Given the description of an element on the screen output the (x, y) to click on. 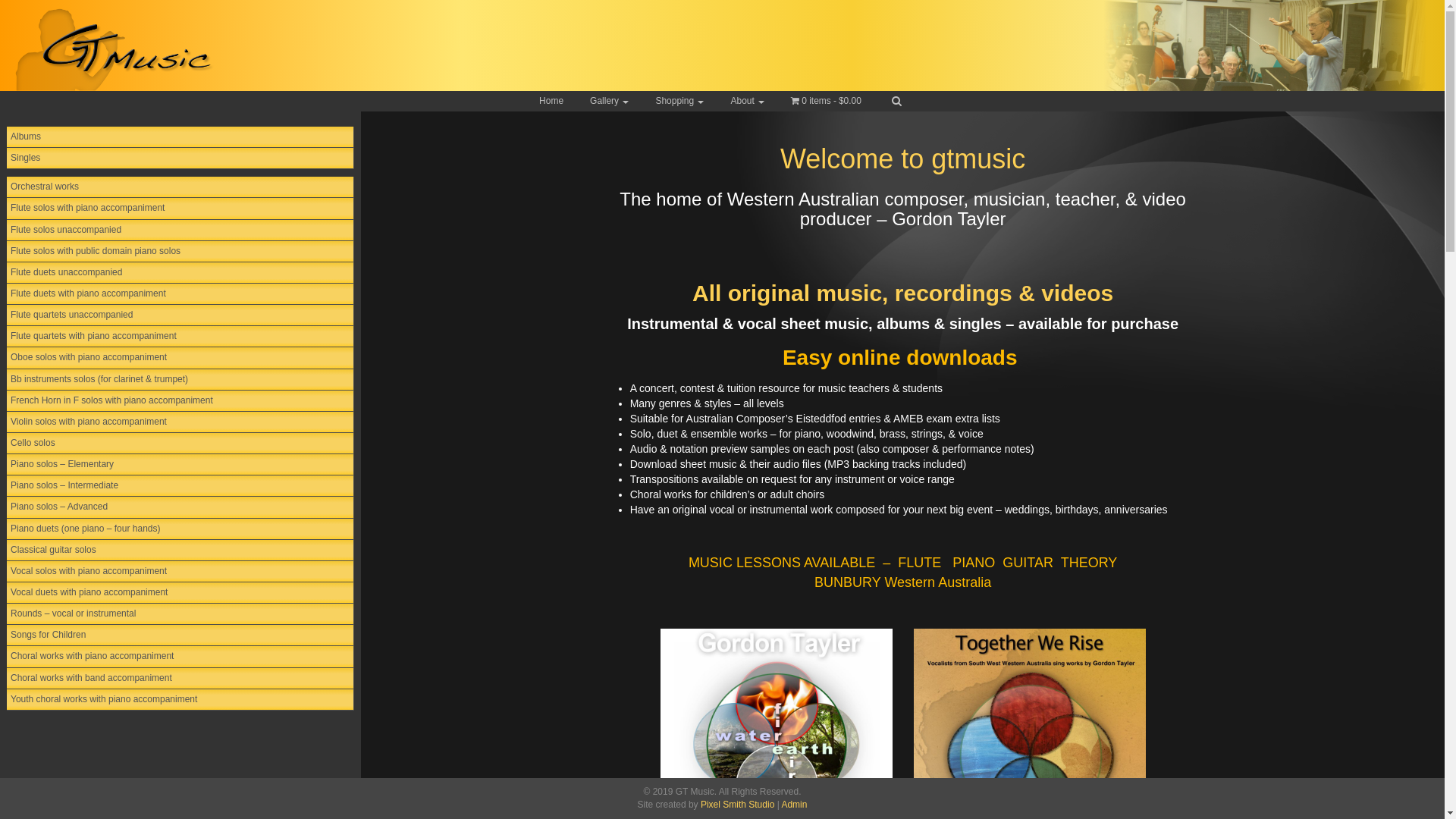
0 items$0.00 Element type: text (826, 101)
Flute quartets with piano accompaniment Element type: text (180, 336)
Choral works with piano accompaniment Element type: text (180, 656)
Flute solos with piano accompaniment Element type: text (180, 208)
Violin solos with piano accompaniment Element type: text (180, 422)
Youth choral works with piano accompaniment Element type: text (180, 699)
Home Element type: text (551, 101)
Orchestral works Element type: text (180, 186)
Classical guitar solos Element type: text (180, 550)
Shopping Element type: text (679, 101)
Pixel Smith Studio Element type: text (737, 804)
Flute quartets unaccompanied Element type: text (180, 315)
Admin Element type: text (793, 804)
Songs for Children Element type: text (180, 635)
Cello solos Element type: text (180, 443)
Vocal duets with piano accompaniment Element type: text (180, 592)
Gallery Element type: text (609, 101)
Choral works with band accompaniment Element type: text (180, 678)
Flute duets with piano accompaniment Element type: text (180, 293)
Albums Element type: text (180, 136)
Bb instruments solos (for clarinet & trumpet) Element type: text (180, 379)
Flute duets unaccompanied Element type: text (180, 272)
Flute solos unaccompanied Element type: text (180, 230)
Oboe solos with piano accompaniment Element type: text (180, 357)
About Element type: text (746, 101)
Singles Element type: text (180, 158)
French Horn in F solos with piano accompaniment Element type: text (180, 400)
Flute solos with public domain piano solos Element type: text (180, 251)
Vocal solos with piano accompaniment Element type: text (180, 571)
